Given the description of an element on the screen output the (x, y) to click on. 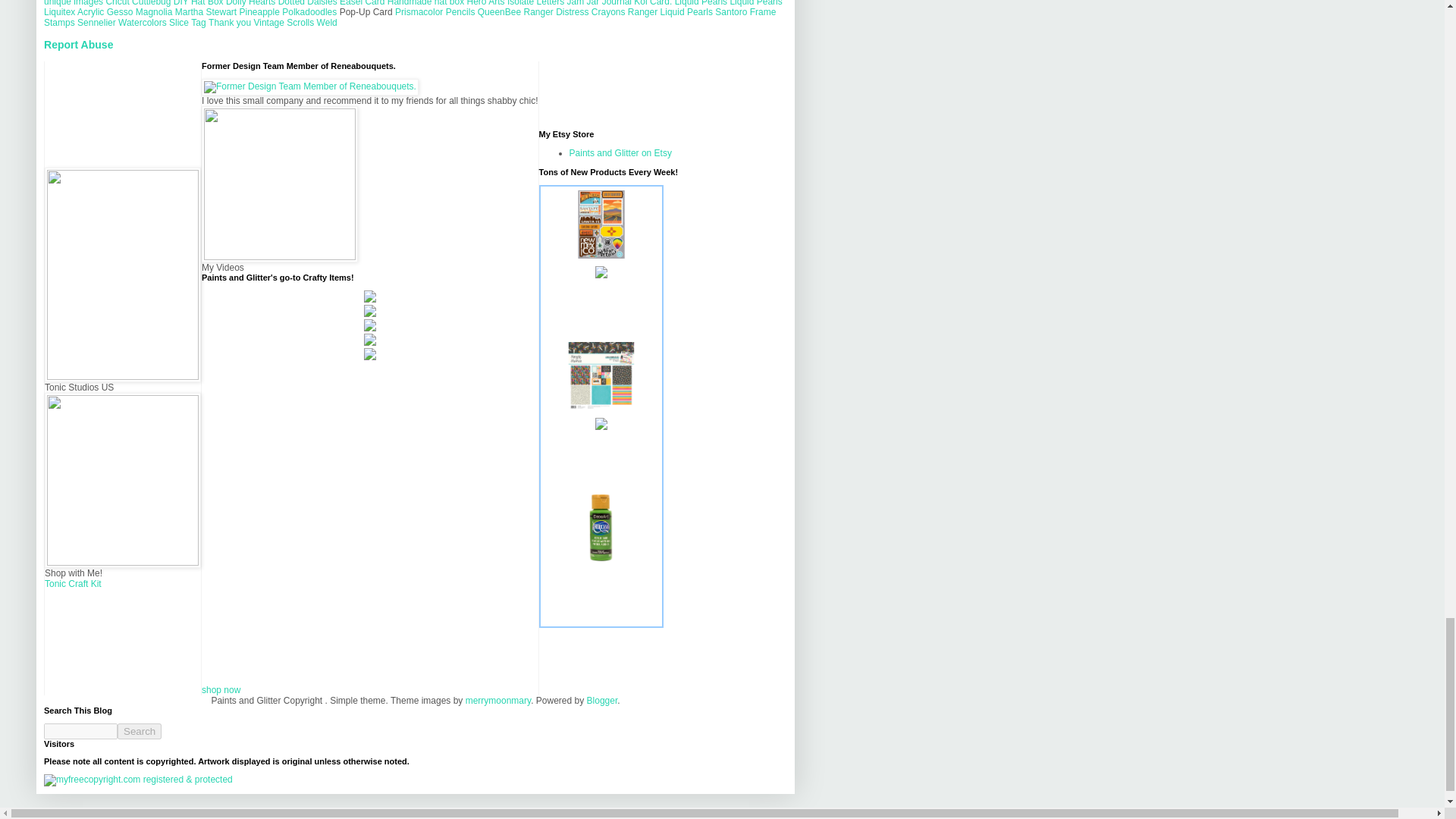
Search (139, 731)
search (139, 731)
Search (139, 731)
search (80, 731)
